Given the description of an element on the screen output the (x, y) to click on. 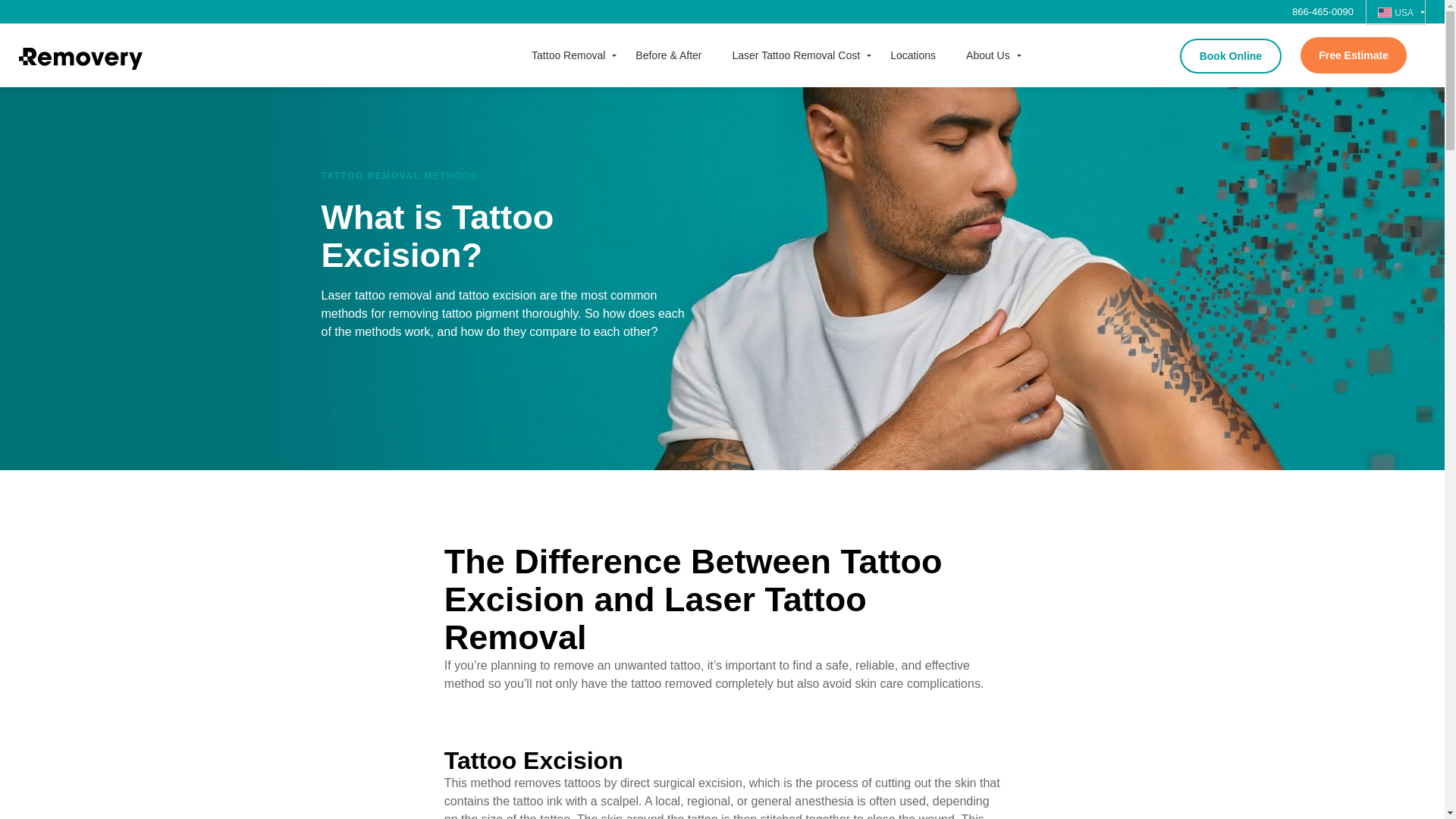
Tattoo Removal (568, 55)
Free Estimate (1353, 54)
866-465-0090 (1328, 11)
About Us (987, 55)
Locations (912, 55)
USA (1395, 12)
Laser Tattoo Removal Cost (796, 55)
Book Online (1230, 55)
